Given the description of an element on the screen output the (x, y) to click on. 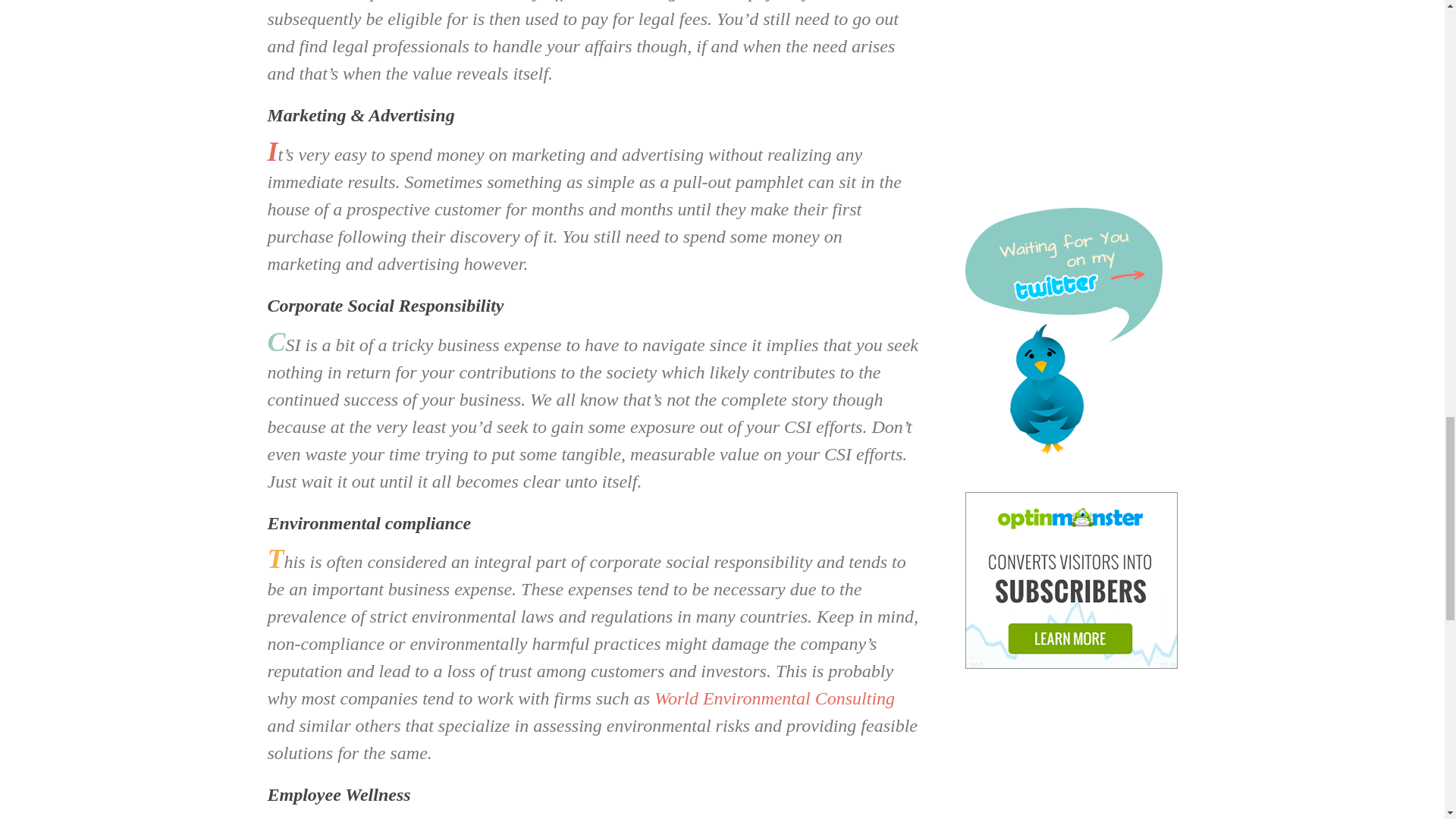
World Environmental Consulting (774, 698)
